Given the description of an element on the screen output the (x, y) to click on. 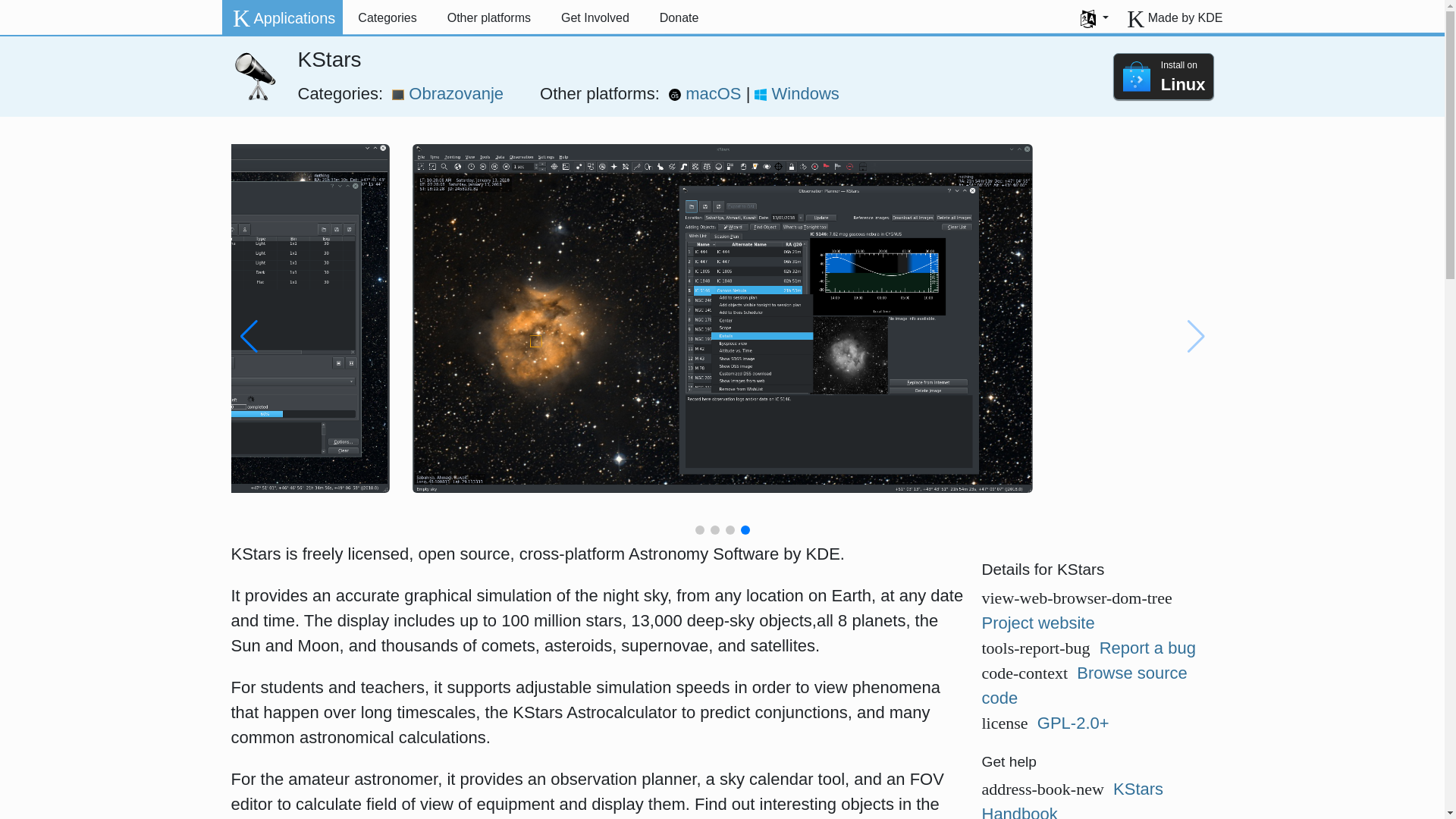
Categories (386, 18)
Other platforms (489, 18)
Get Involved (595, 18)
Donate (679, 18)
